Given the description of an element on the screen output the (x, y) to click on. 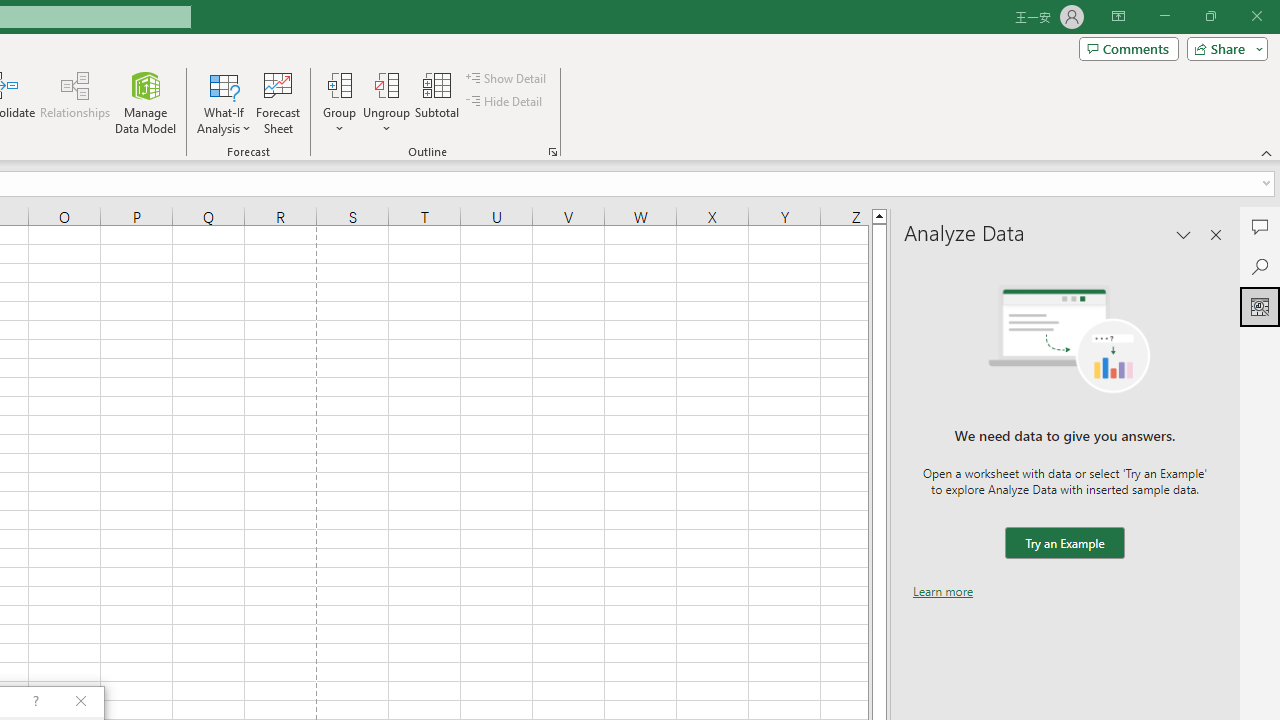
Learn more (943, 591)
